Given the description of an element on the screen output the (x, y) to click on. 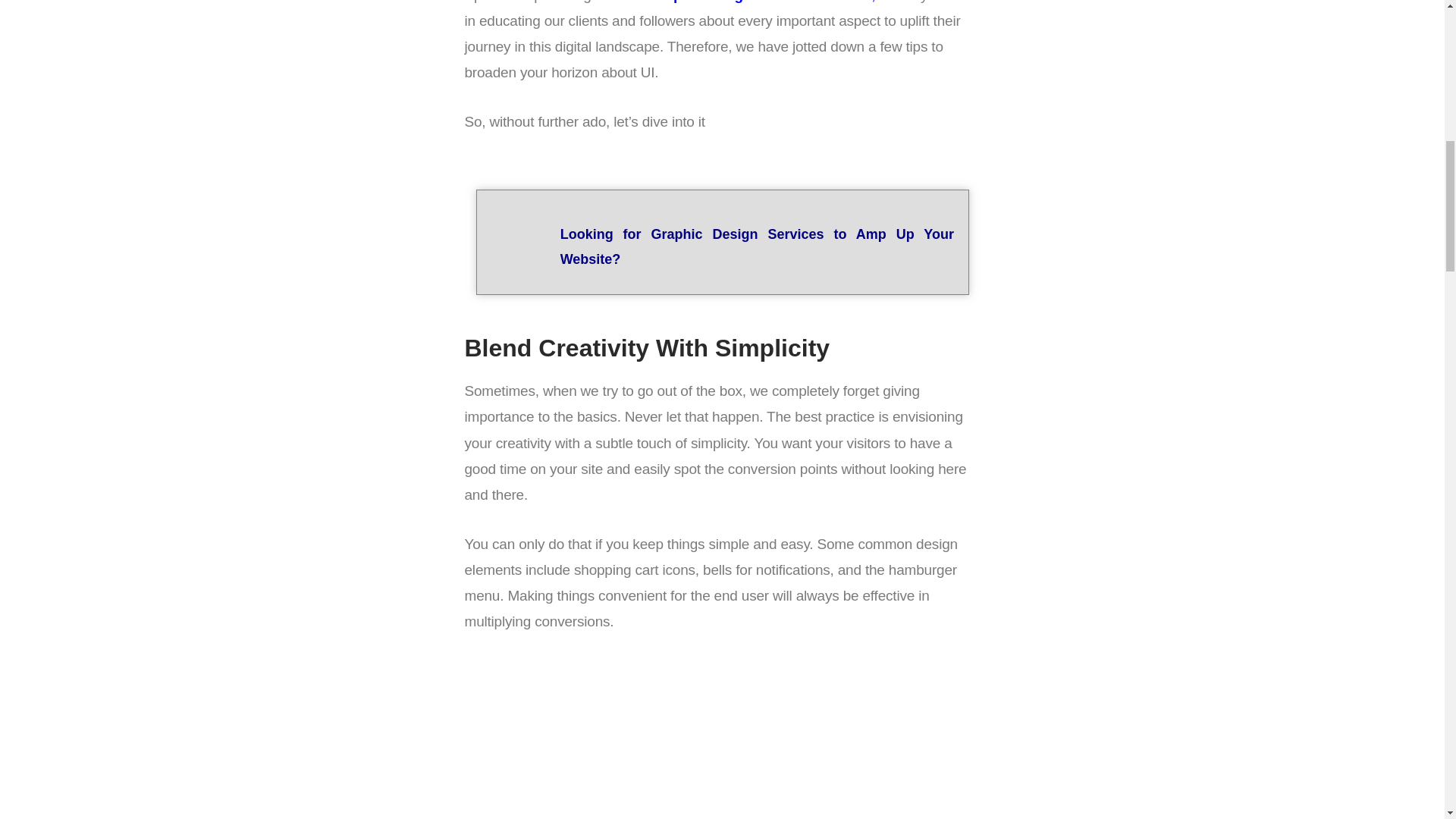
Graphics Design Services (759, 1)
graphic Dessigning Services (756, 246)
